Given the description of an element on the screen output the (x, y) to click on. 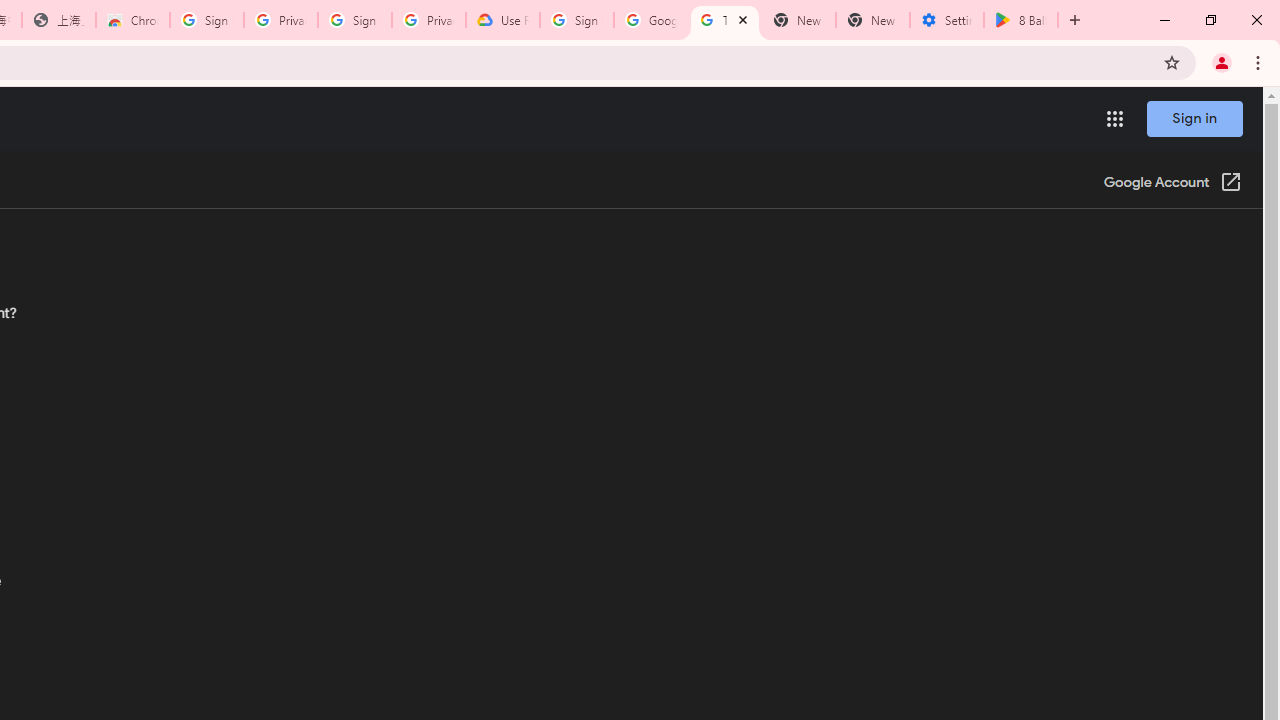
Google Account (Open in a new window) (1172, 183)
Turn cookies on or off - Computer - Google Account Help (724, 20)
New Tab (872, 20)
